Given the description of an element on the screen output the (x, y) to click on. 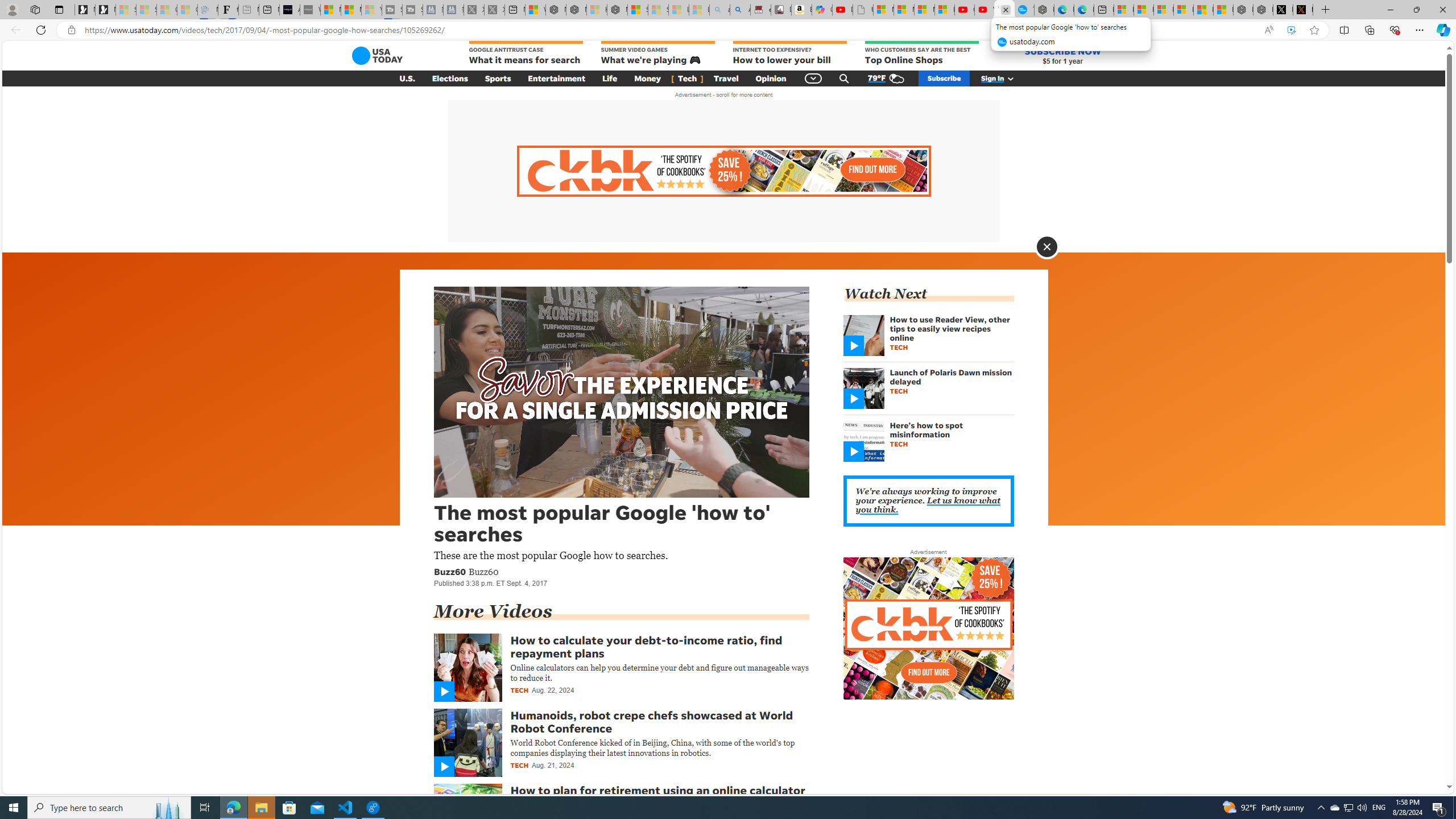
Sign In (1002, 78)
Newsletter Sign Up (105, 9)
